Given the description of an element on the screen output the (x, y) to click on. 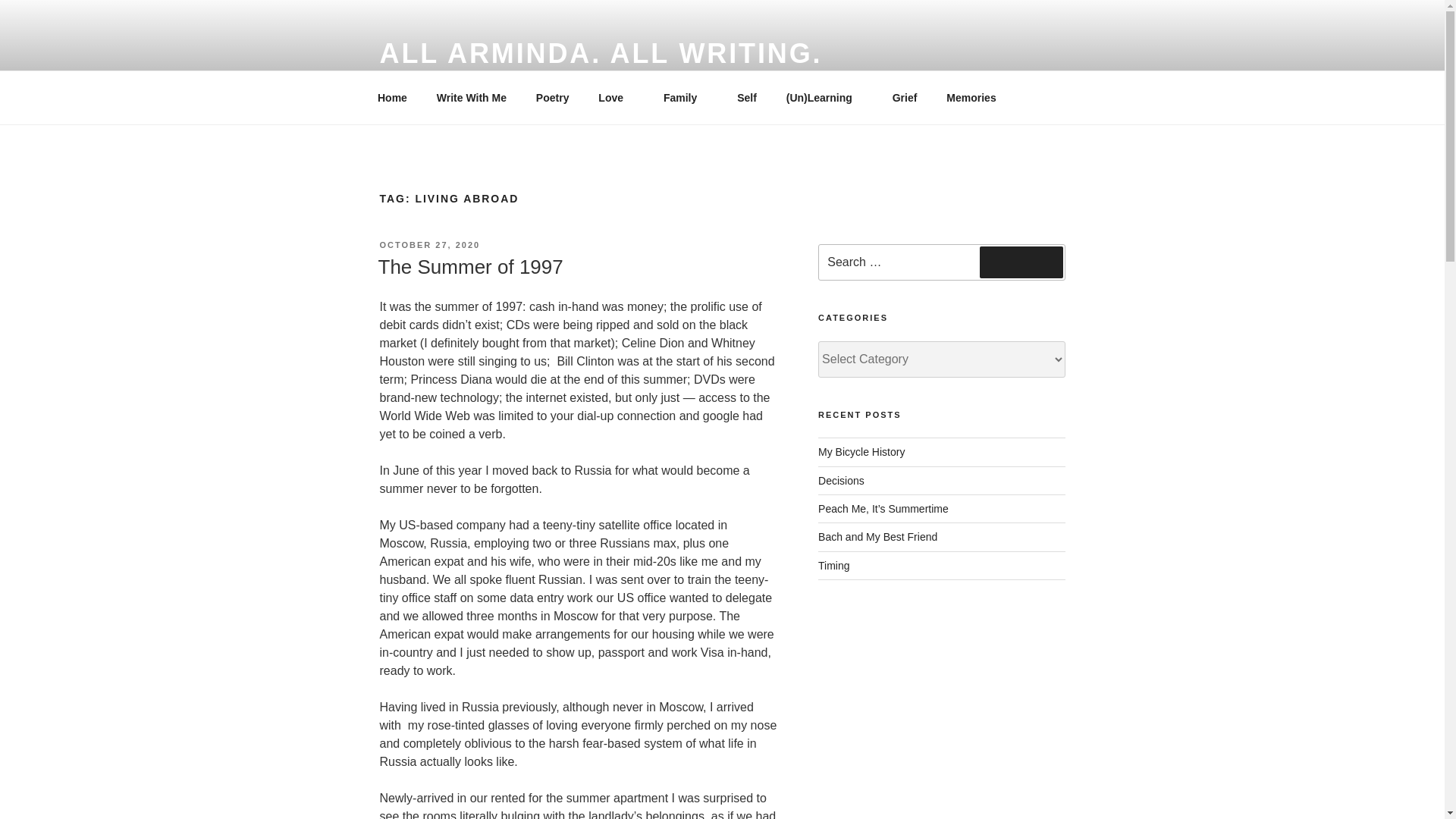
Decisions (841, 480)
ALL ARMINDA. ALL WRITING. (600, 52)
Write With Me (471, 97)
Grief (904, 97)
Poetry (552, 97)
My Bicycle History (861, 451)
Home (392, 97)
Timing (834, 565)
Memories (971, 97)
Bach and My Best Friend (877, 536)
Self (746, 97)
The Summer of 1997 (469, 266)
OCTOBER 27, 2020 (429, 244)
Love (616, 97)
Search (1020, 262)
